Given the description of an element on the screen output the (x, y) to click on. 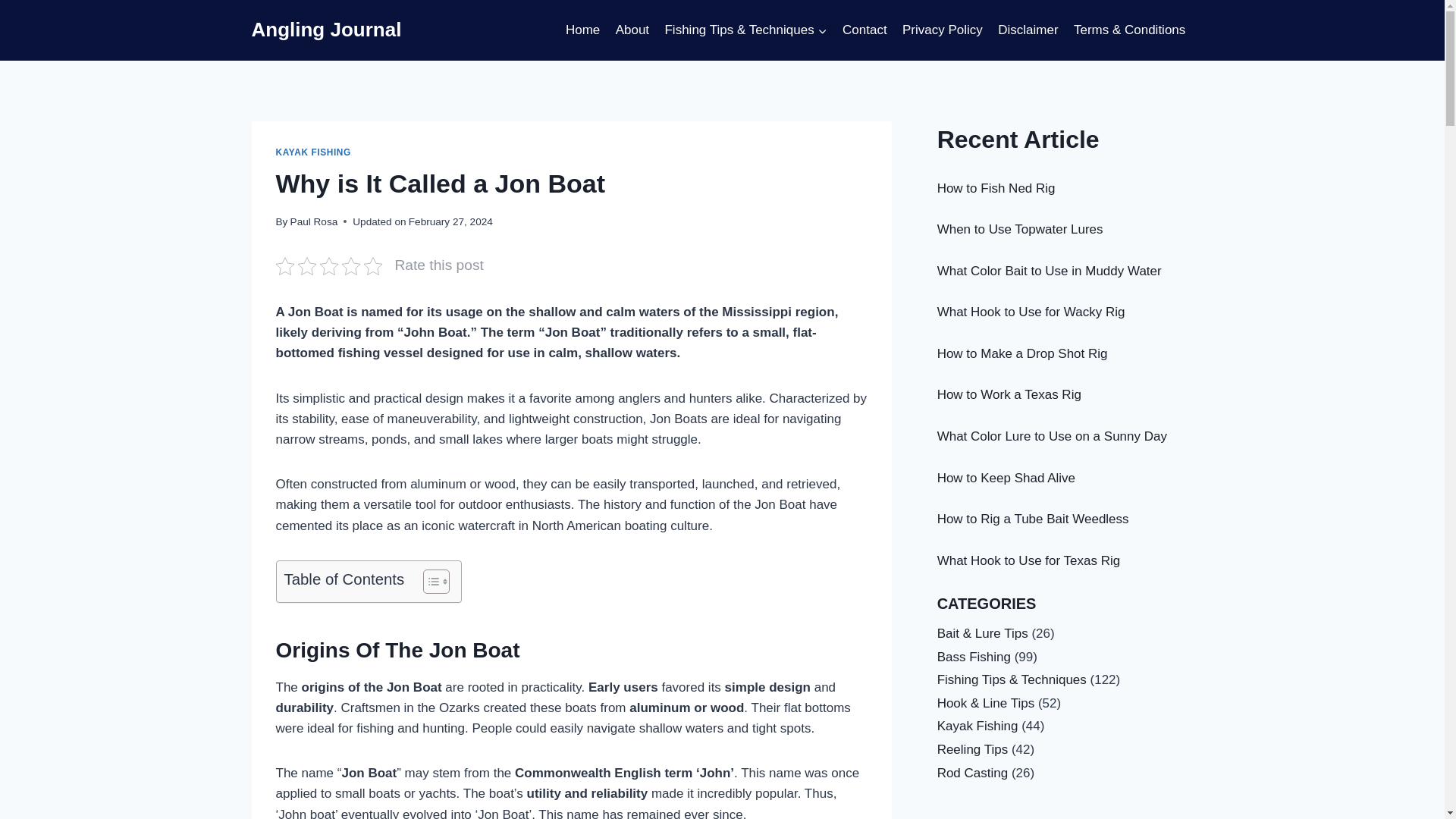
Home (582, 30)
Privacy Policy (942, 30)
Angling Journal (326, 29)
Contact (864, 30)
About (631, 30)
KAYAK FISHING (313, 152)
Disclaimer (1027, 30)
